Given the description of an element on the screen output the (x, y) to click on. 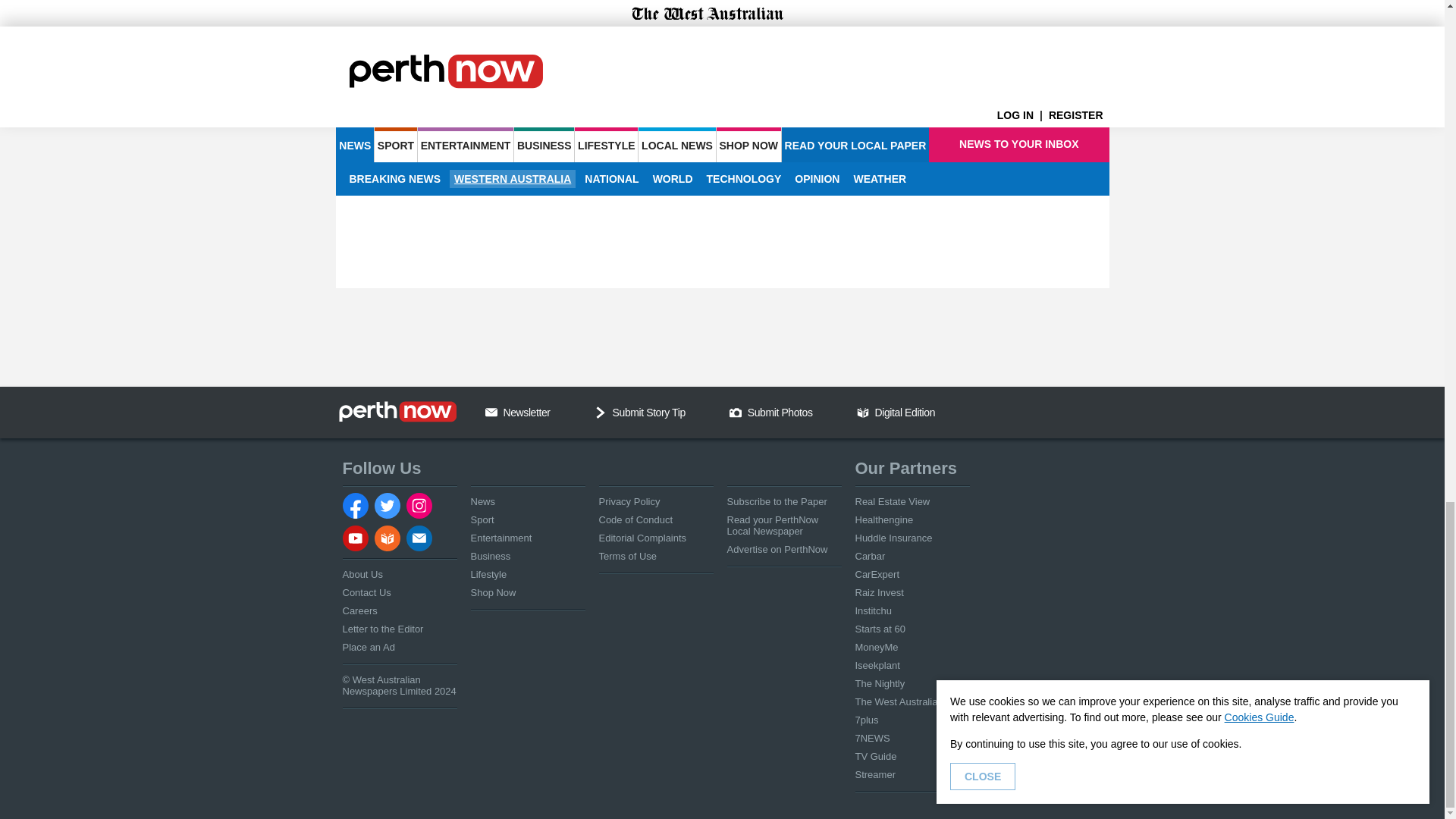
Chevron Down Icon (600, 412)
Camera Icon (735, 412)
Email Us (490, 412)
